Given the description of an element on the screen output the (x, y) to click on. 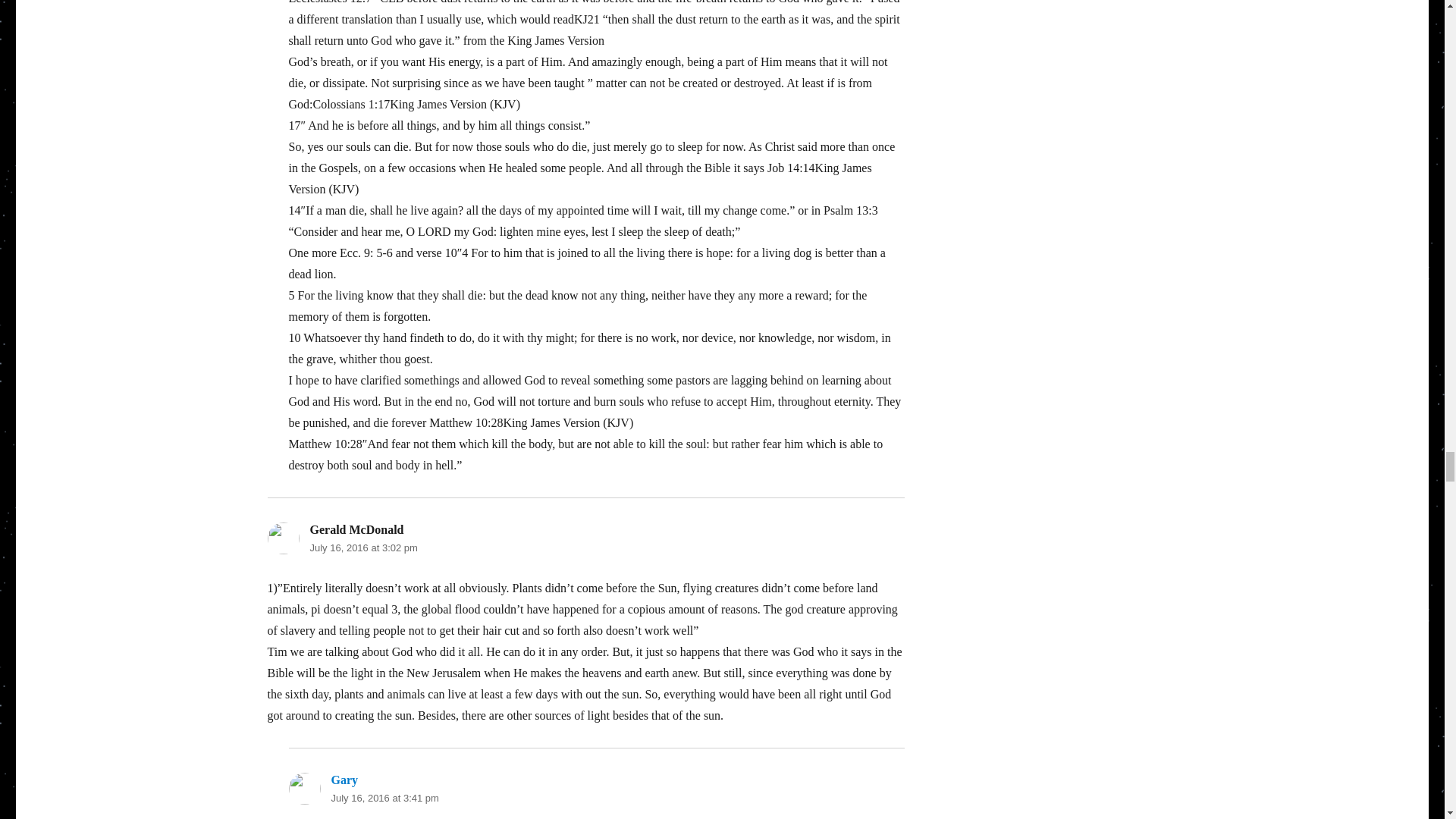
July 16, 2016 at 3:02 pm (362, 547)
